Given the description of an element on the screen output the (x, y) to click on. 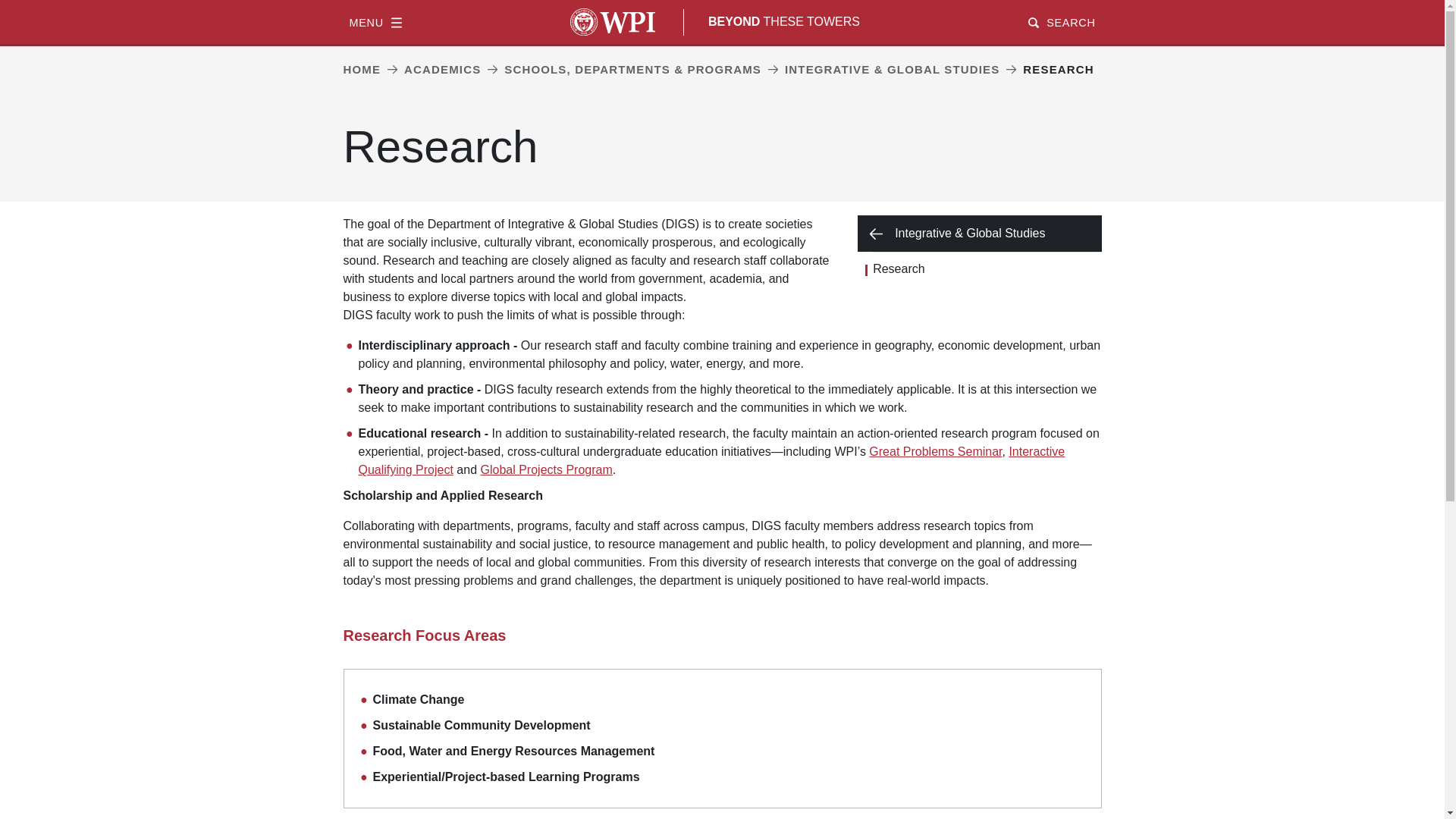
MENU (374, 21)
BEYOND THESE TOWERS (783, 21)
WPI Home (612, 22)
Skip to main content (721, 1)
SEARCH (1061, 21)
